Given the description of an element on the screen output the (x, y) to click on. 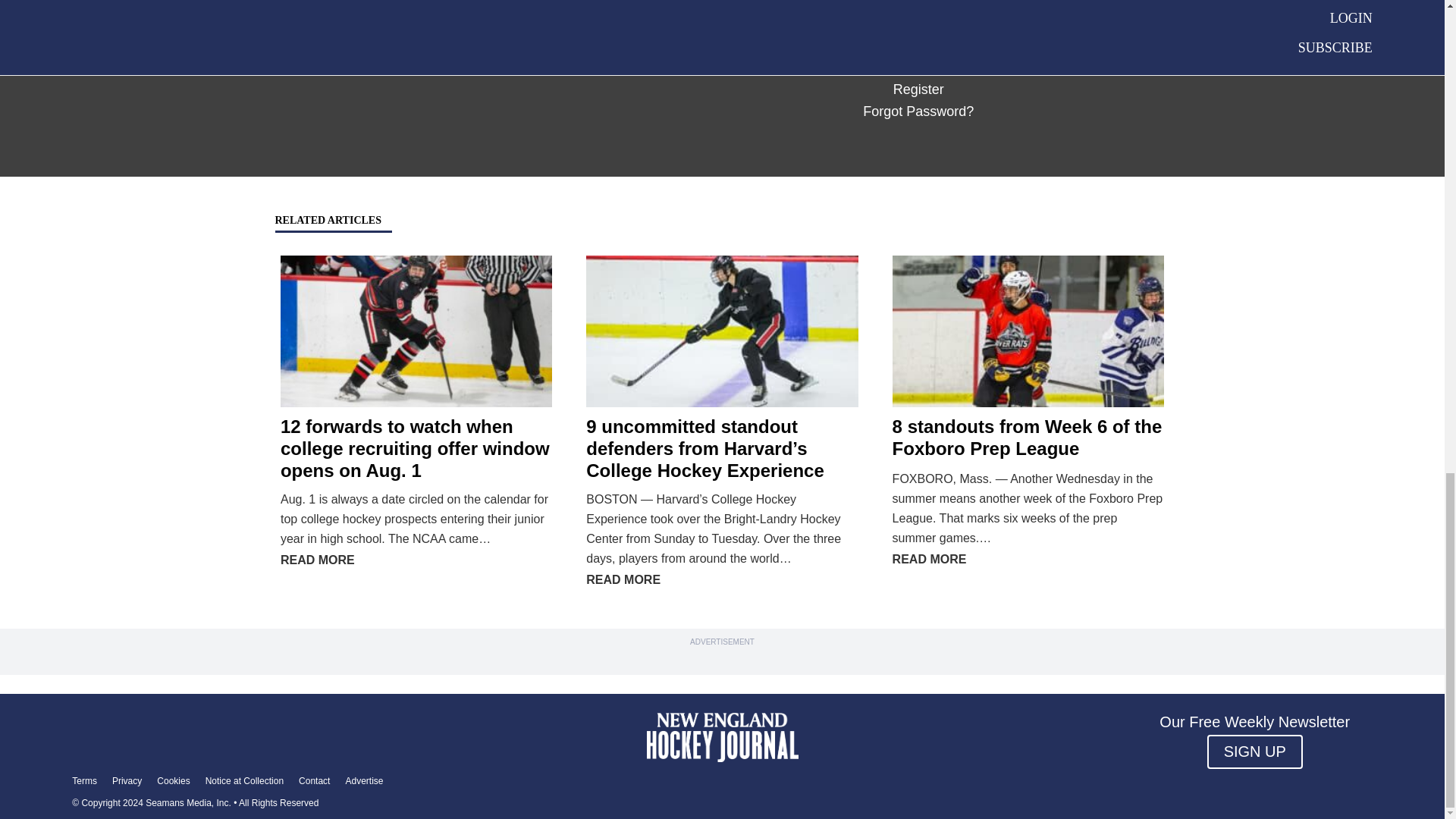
SIGN UP (1255, 751)
READ MORE (623, 579)
8 standouts from Week 6 of the Foxboro Prep League (1026, 437)
Register (918, 89)
READ MORE (318, 559)
Register (918, 89)
READ MORE (929, 558)
Login (860, 42)
Terms (84, 780)
Privacy (126, 780)
SIGN UP (1255, 752)
Forgot Password? (918, 111)
Forgot Password? (918, 111)
